Given the description of an element on the screen output the (x, y) to click on. 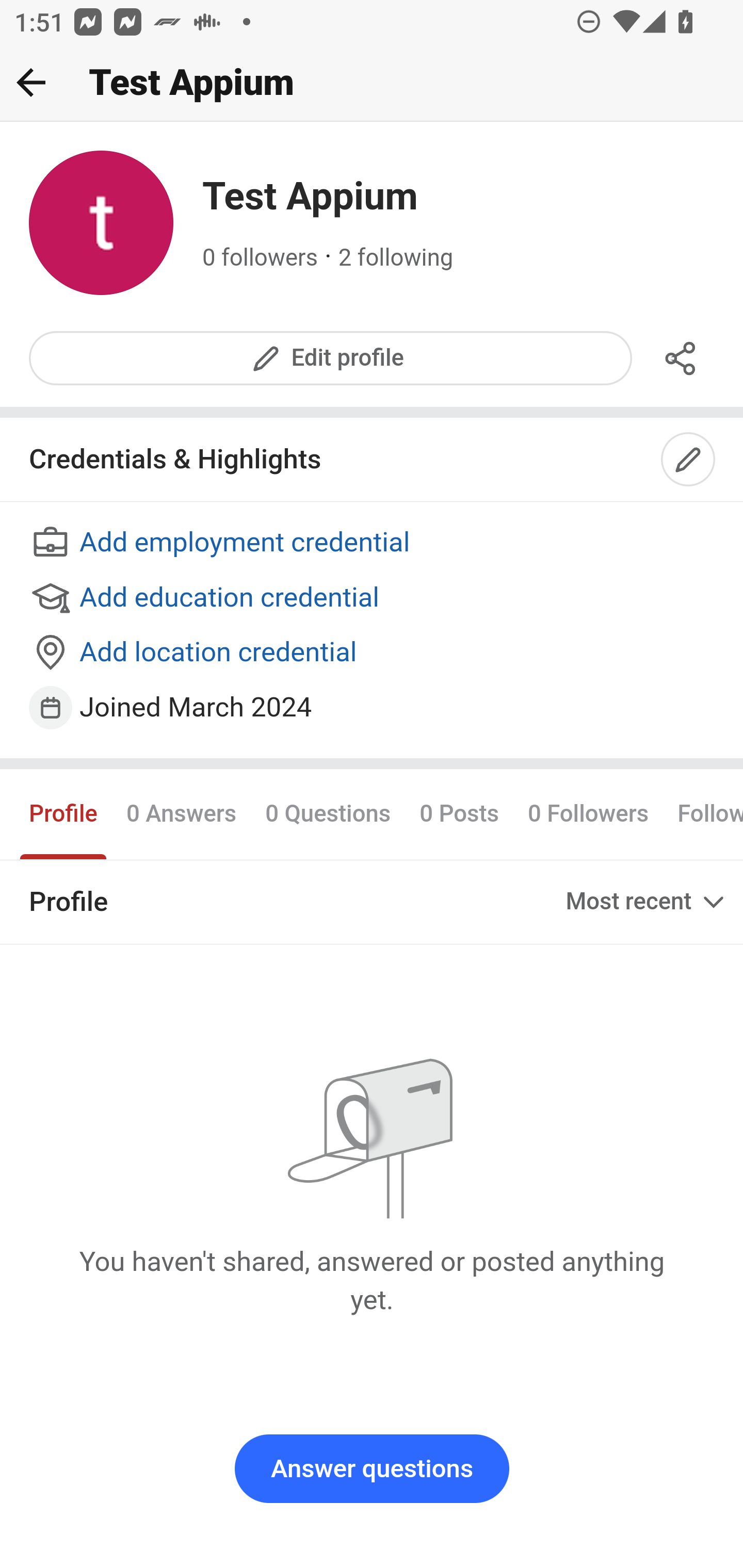
Back (30, 82)
0 followers (260, 257)
2 following (395, 257)
Share (681, 358)
Edit profile (330, 357)
Edit credentials (688, 459)
Add employment credential (372, 543)
Add education credential (372, 598)
Add location credential (372, 653)
Profile (63, 813)
0 Answers (180, 813)
0 Questions (327, 813)
0 Posts (459, 813)
0 Followers (588, 813)
Most recent (647, 901)
Answer questions (371, 1469)
